Given the description of an element on the screen output the (x, y) to click on. 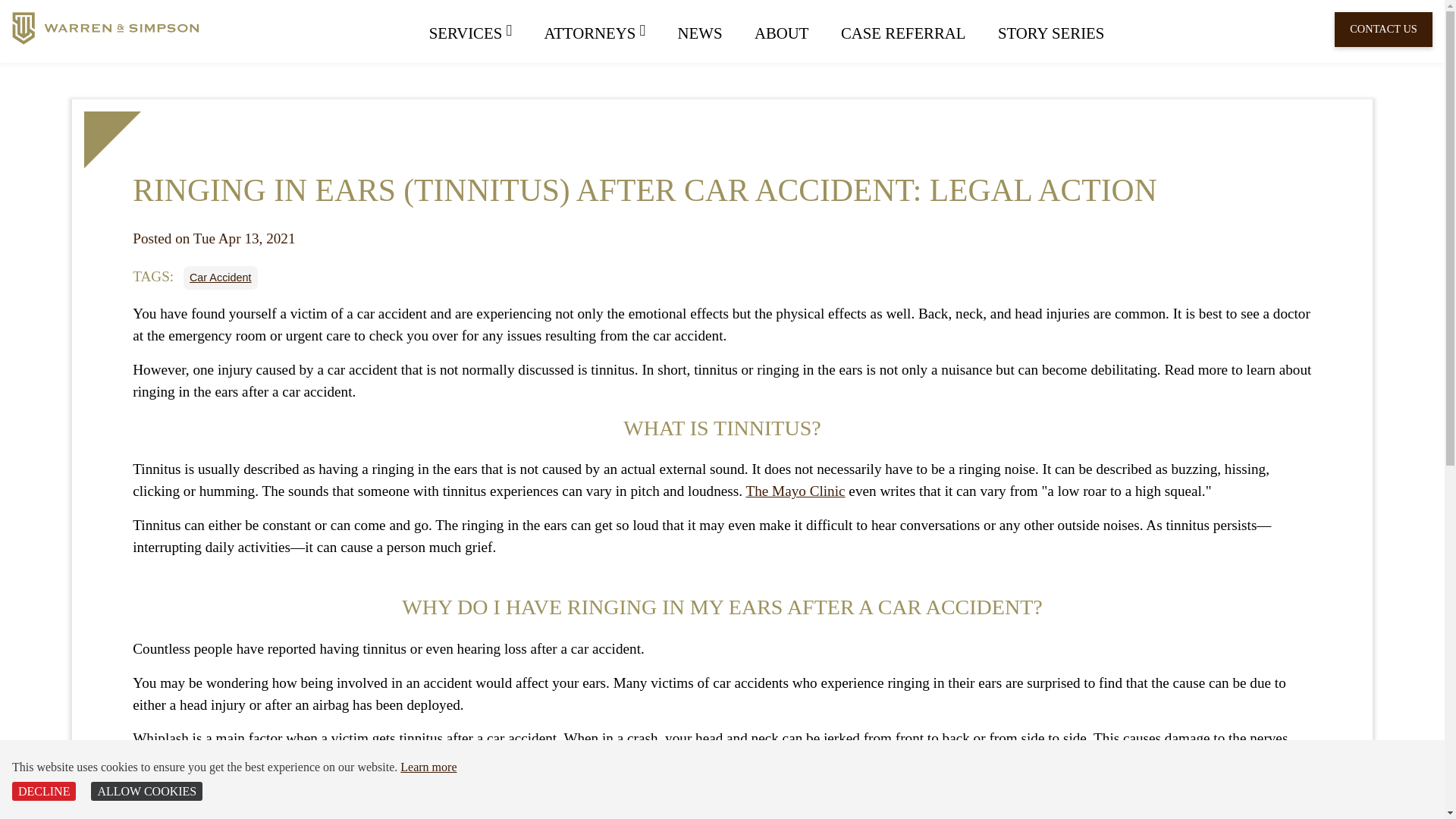
Home Page (104, 28)
The Mayo Clinic (794, 490)
ALLOW COOKIES (146, 791)
CONTACT US (1383, 29)
DECLINE (43, 791)
Injury Attorney News (699, 32)
Injury Attorney Case Referral (903, 32)
Injury Attorney Story Series (1044, 32)
ATTORNEYS (594, 31)
CASE REFERRAL (903, 32)
Learn more (428, 766)
NEWS (699, 32)
STORY SERIES (1044, 32)
SERVICES (478, 31)
Car Accident (220, 277)
